Given the description of an element on the screen output the (x, y) to click on. 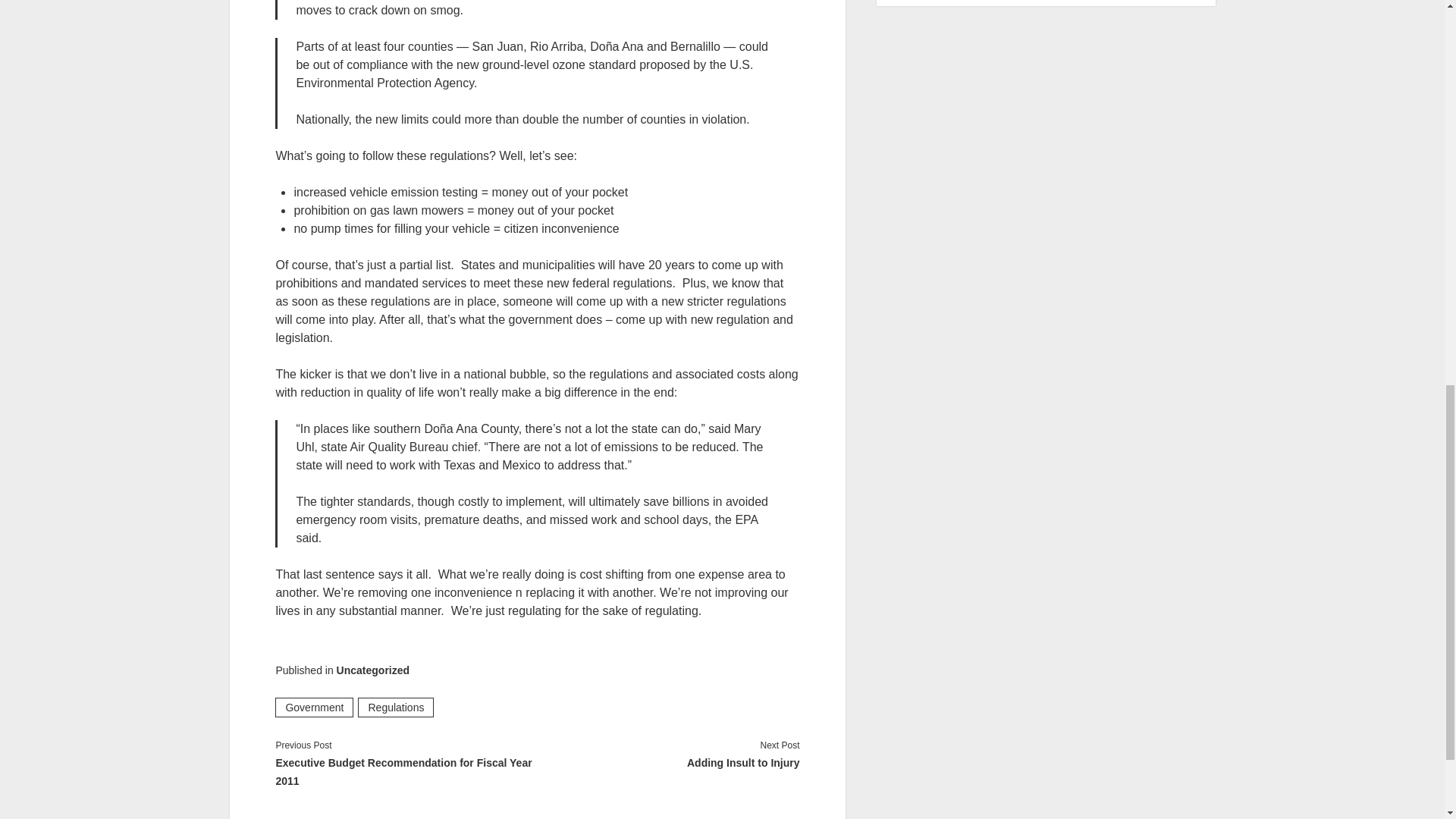
E-mail reporter Dan McKay! (528, 455)
E-mail reporter Dan McKay! (531, 73)
E-mail reporter Hailey Heinz! (453, 210)
Uncategorized (372, 670)
Adding Insult to Injury (668, 762)
E-mail reporter Hailey Heinz! (458, 228)
E-mail reporter Hailey Heinz! (460, 192)
Executive Budget Recommendation for Fiscal Year 2011 (406, 771)
Regulations (395, 707)
E-mail reporter Hailey Heinz! (425, 155)
